Given the description of an element on the screen output the (x, y) to click on. 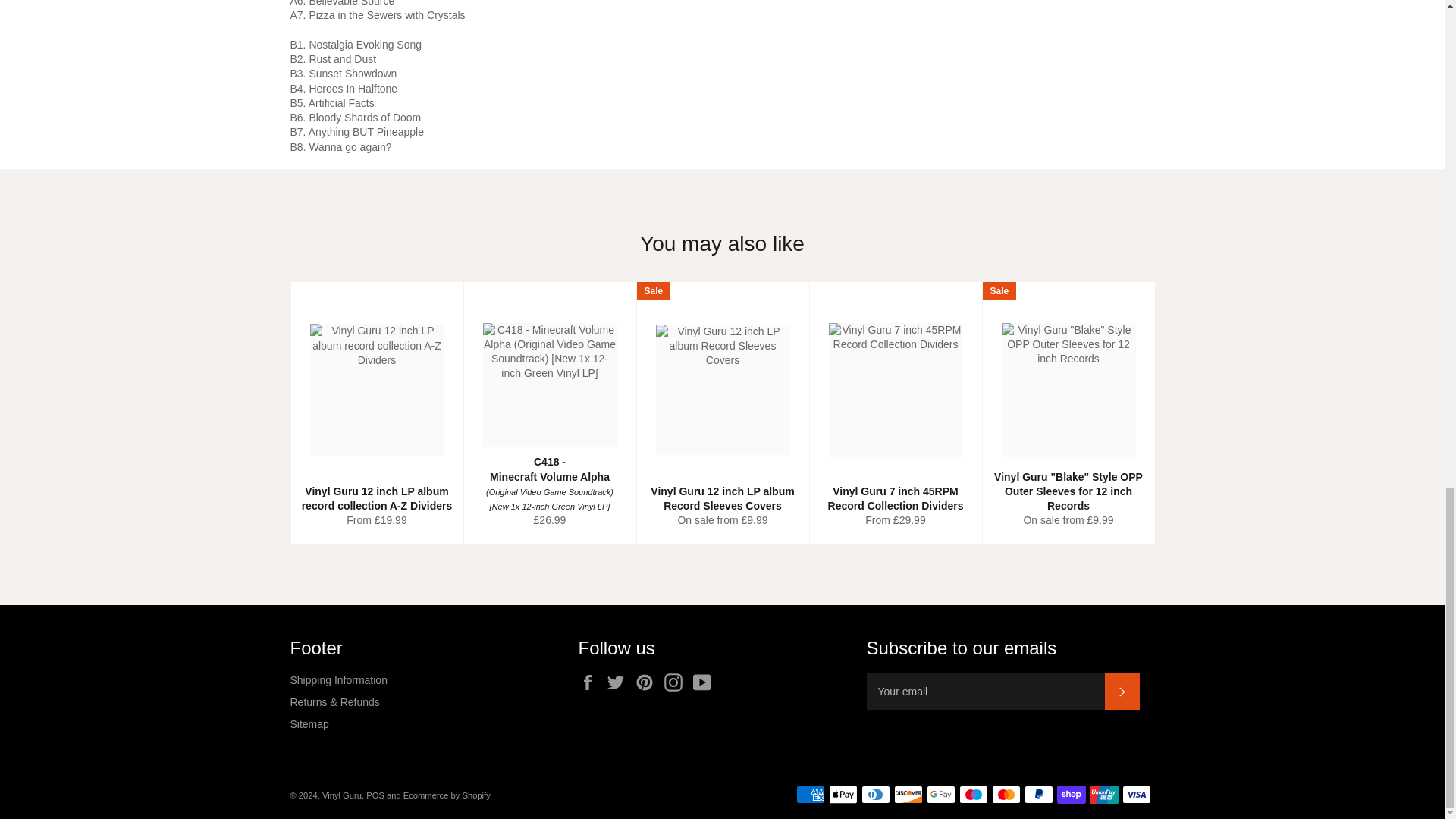
Vinyl Guru on Facebook (591, 682)
Vinyl Guru on Twitter (619, 682)
Vinyl Guru on Pinterest (647, 682)
Vinyl Guru on YouTube (706, 682)
Vinyl Guru on Instagram (676, 682)
